Given the description of an element on the screen output the (x, y) to click on. 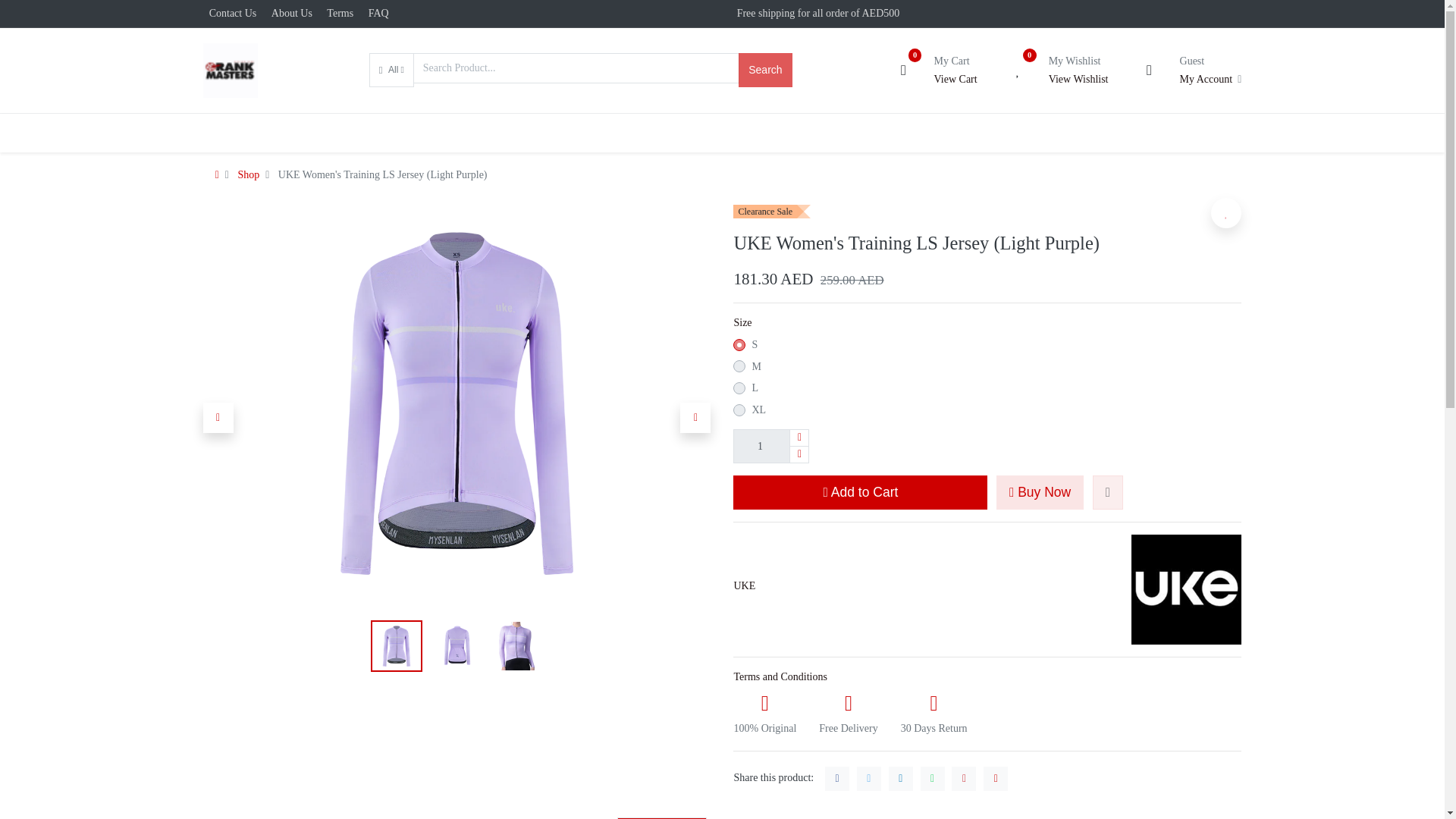
Terms (339, 12)
1 (771, 446)
Add one (799, 437)
FAQ (378, 12)
Contact Us (233, 12)
Search (765, 70)
About Us (291, 12)
View Wishlist (1078, 79)
View Cart (955, 79)
Crank Masters (230, 70)
